Given the description of an element on the screen output the (x, y) to click on. 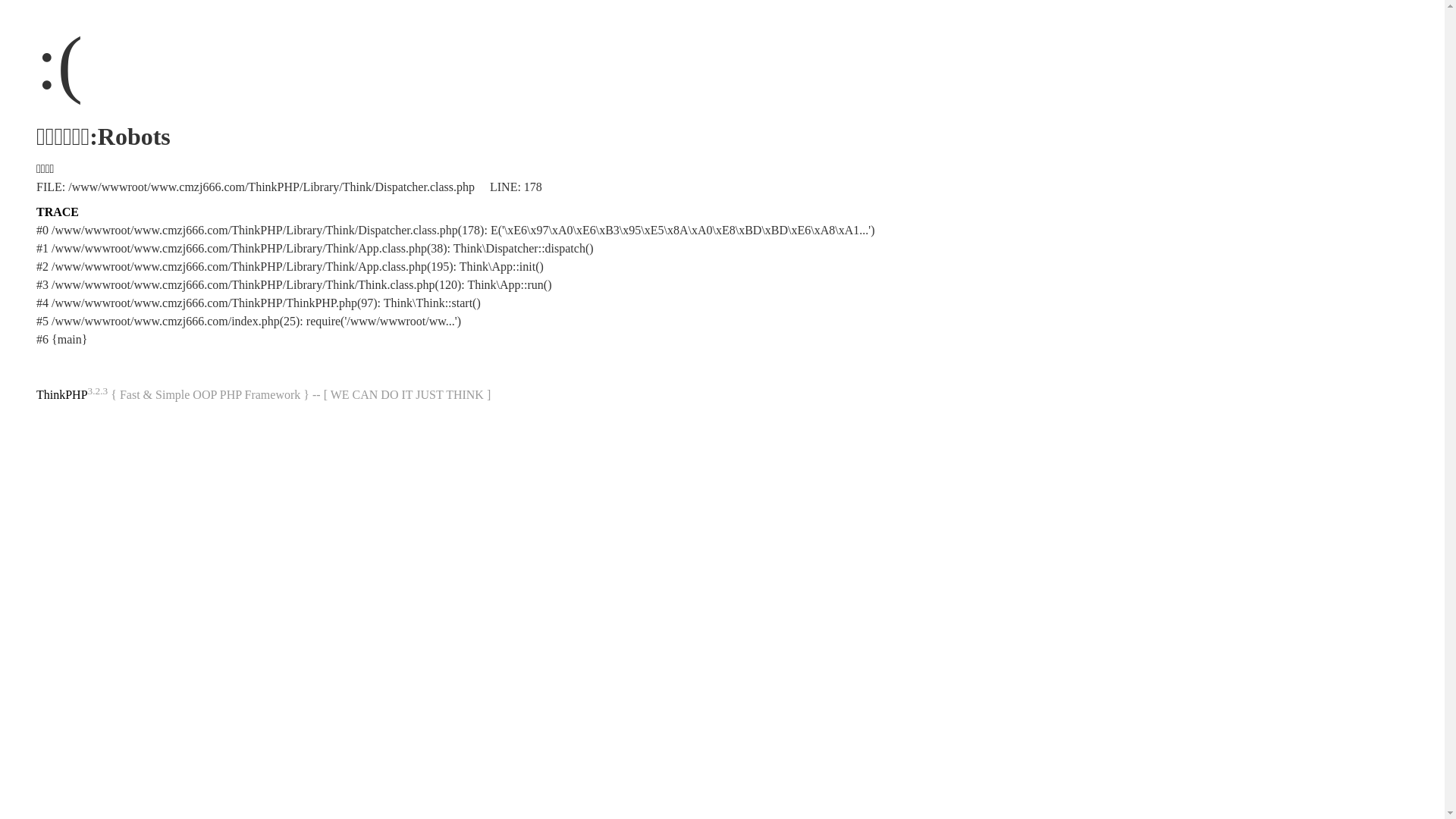
ThinkPHP Element type: text (61, 394)
